Given the description of an element on the screen output the (x, y) to click on. 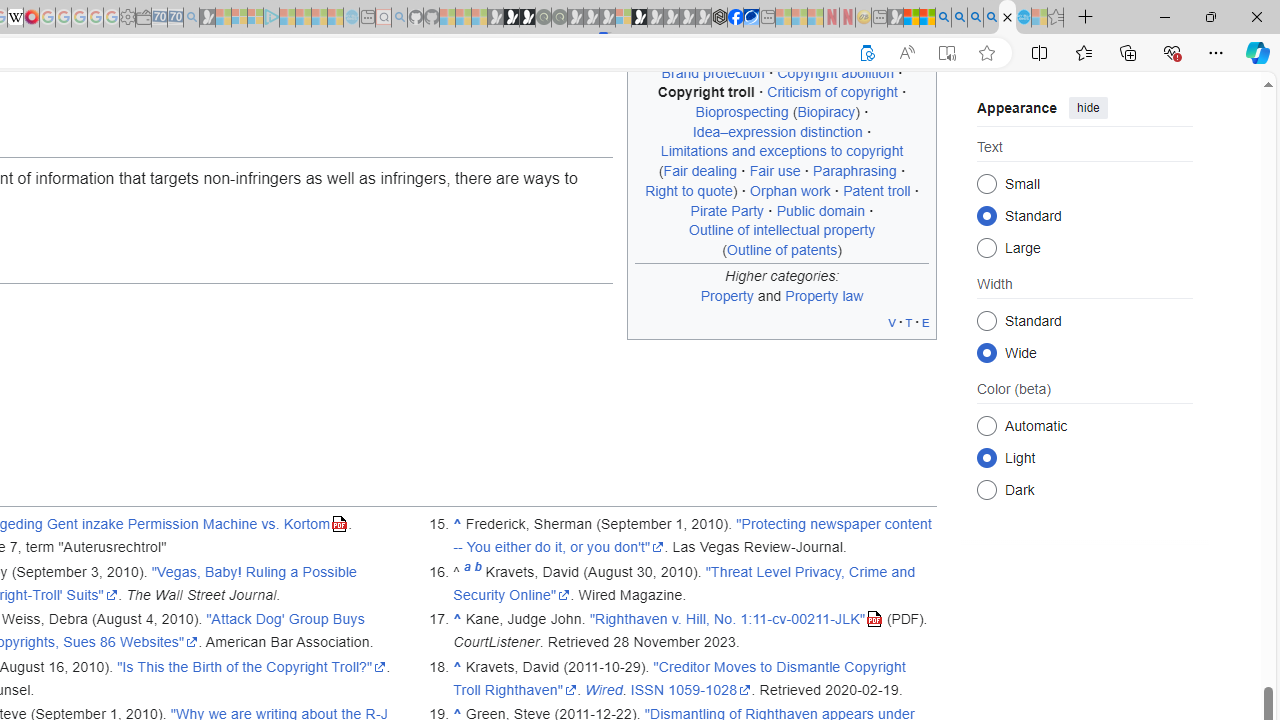
Copyright abolition (835, 72)
(Outline of patents) (782, 249)
Property (726, 295)
Pirate Party (727, 210)
Limitations and exceptions to copyright (781, 151)
Support Wikipedia? (867, 53)
